Given the description of an element on the screen output the (x, y) to click on. 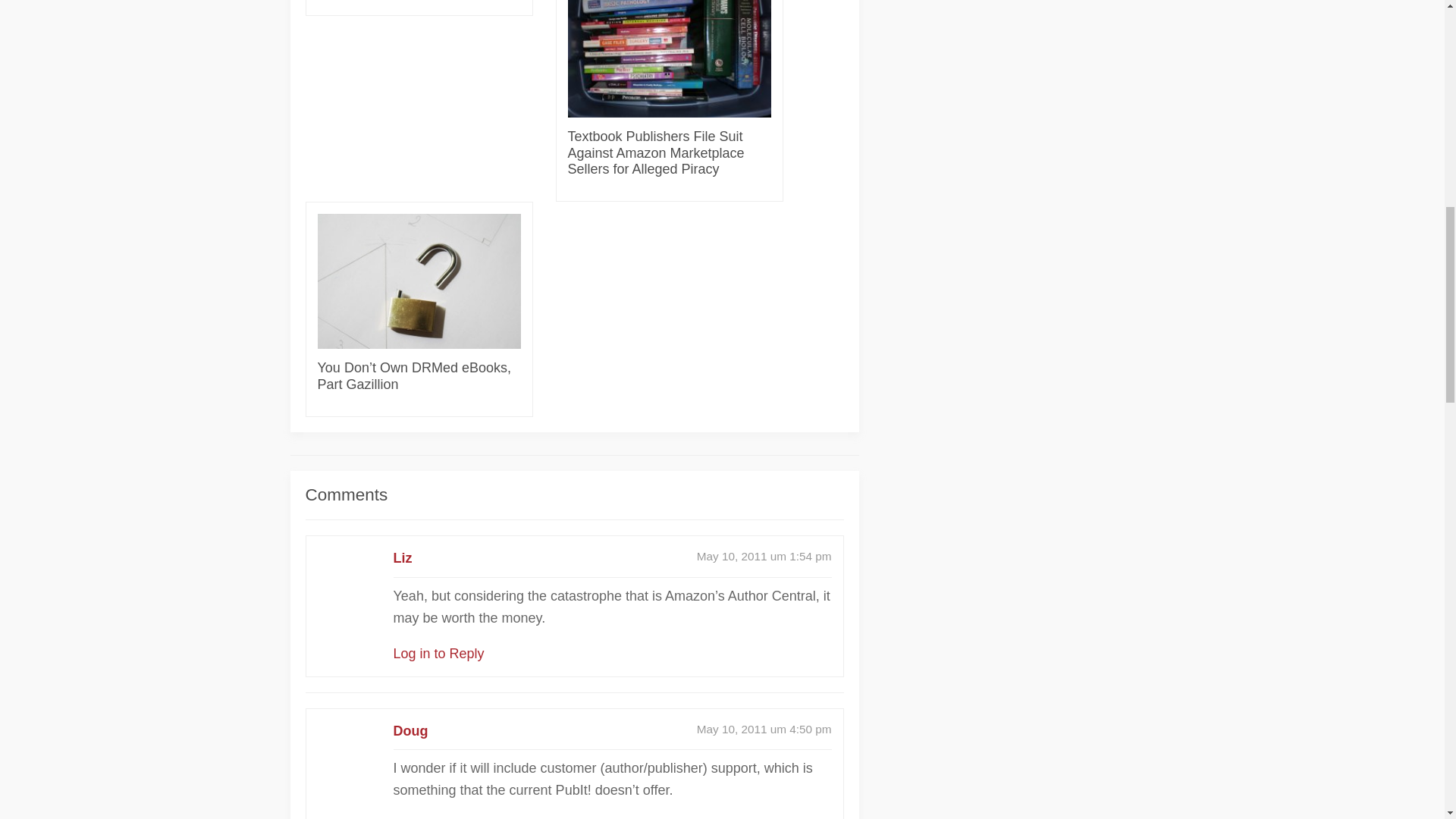
Log in to Reply (438, 653)
